Given the description of an element on the screen output the (x, y) to click on. 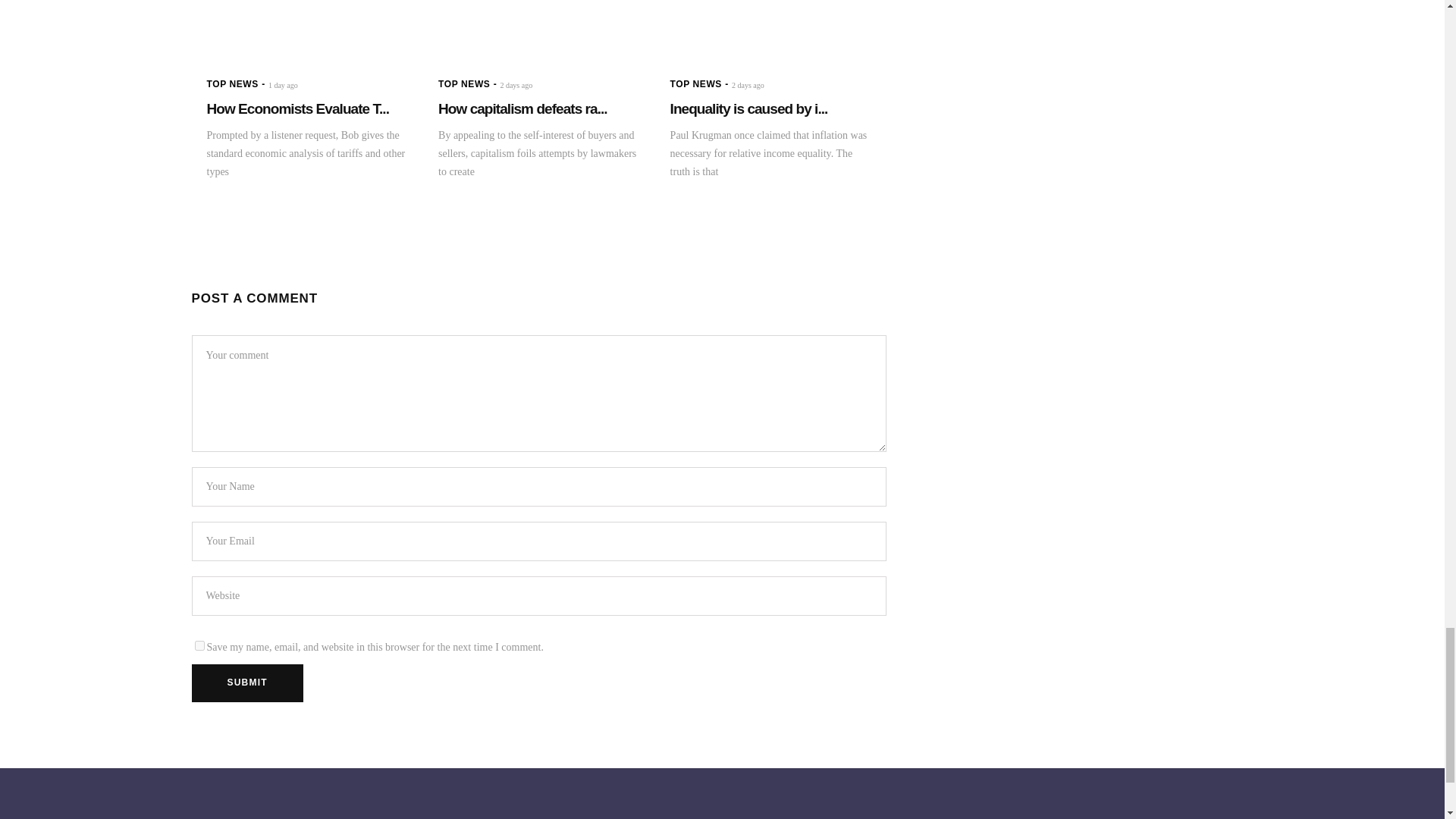
Submit (246, 682)
How capitalism defeats racism (522, 108)
Inequality is caused by inflation (748, 108)
yes (198, 645)
How Economists Evaluate Tariffs Versus Income Taxes (306, 29)
How Economists Evaluate Tariffs Versus Income Taxes (297, 108)
Inequality is caused by inflation (770, 29)
How capitalism defeats racism (539, 29)
